Given the description of an element on the screen output the (x, y) to click on. 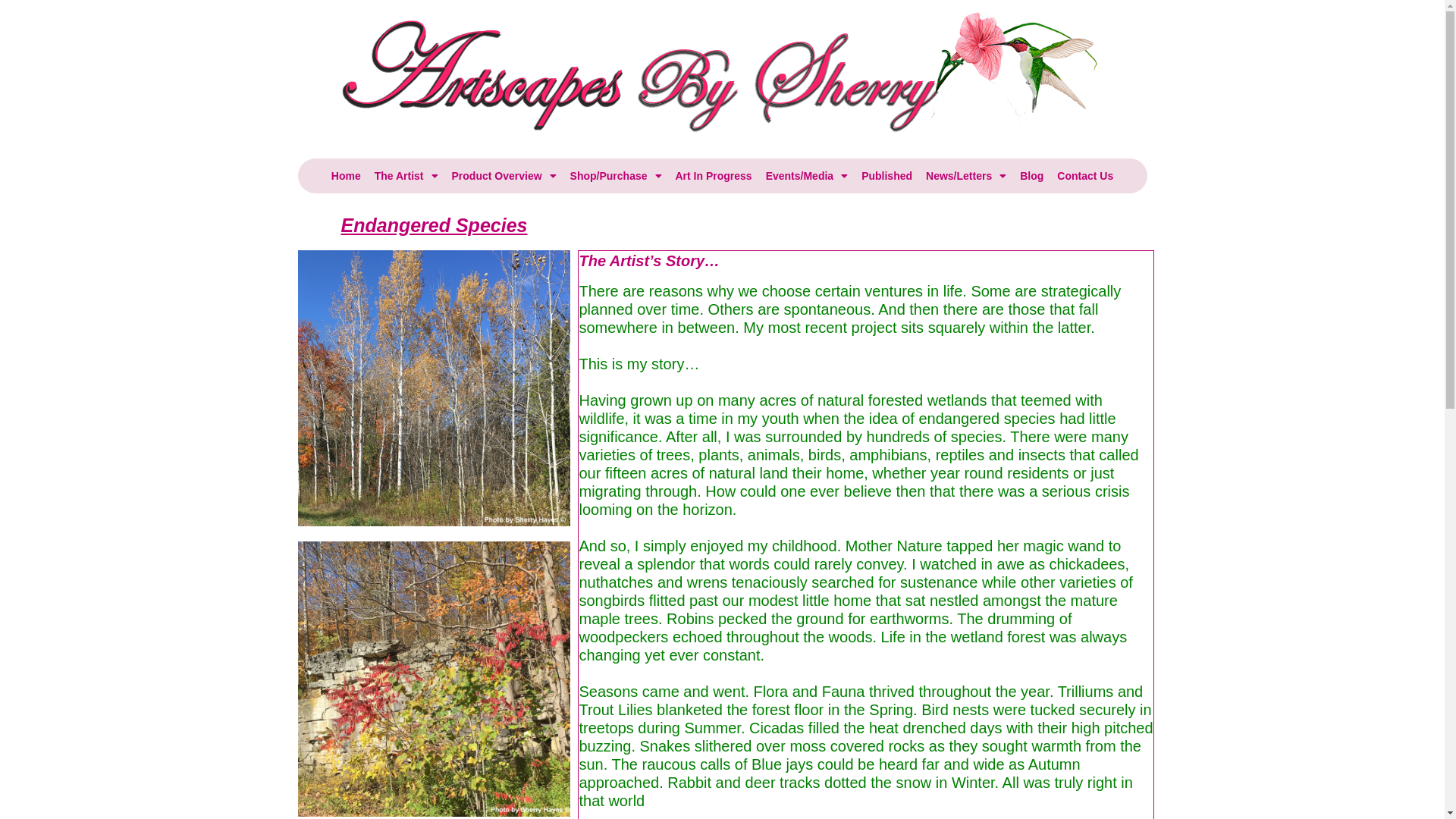
Product Overview Element type: text (503, 175)
Home Element type: text (346, 175)
Events/Media Element type: text (806, 175)
Blog Element type: text (1031, 175)
Published Element type: text (886, 175)
Art In Progress Element type: text (712, 175)
Shop/Purchase Element type: text (616, 175)
Contact Us Element type: text (1084, 175)
The Artist Element type: text (406, 175)
News/Letters Element type: text (965, 175)
